Given the description of an element on the screen output the (x, y) to click on. 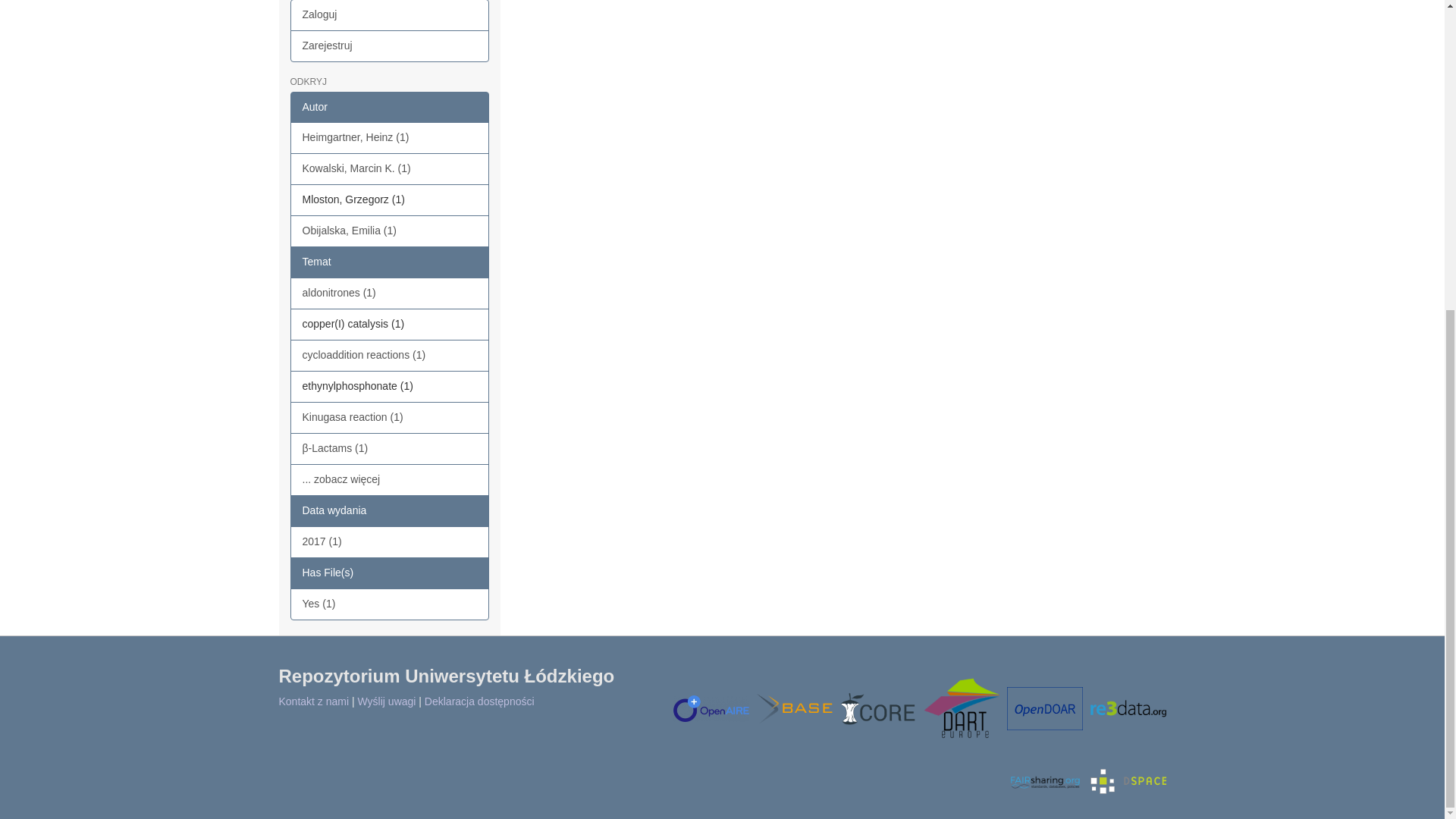
Autor (389, 107)
Zaloguj (389, 15)
Zarejestruj (389, 46)
Temat (389, 262)
